Given the description of an element on the screen output the (x, y) to click on. 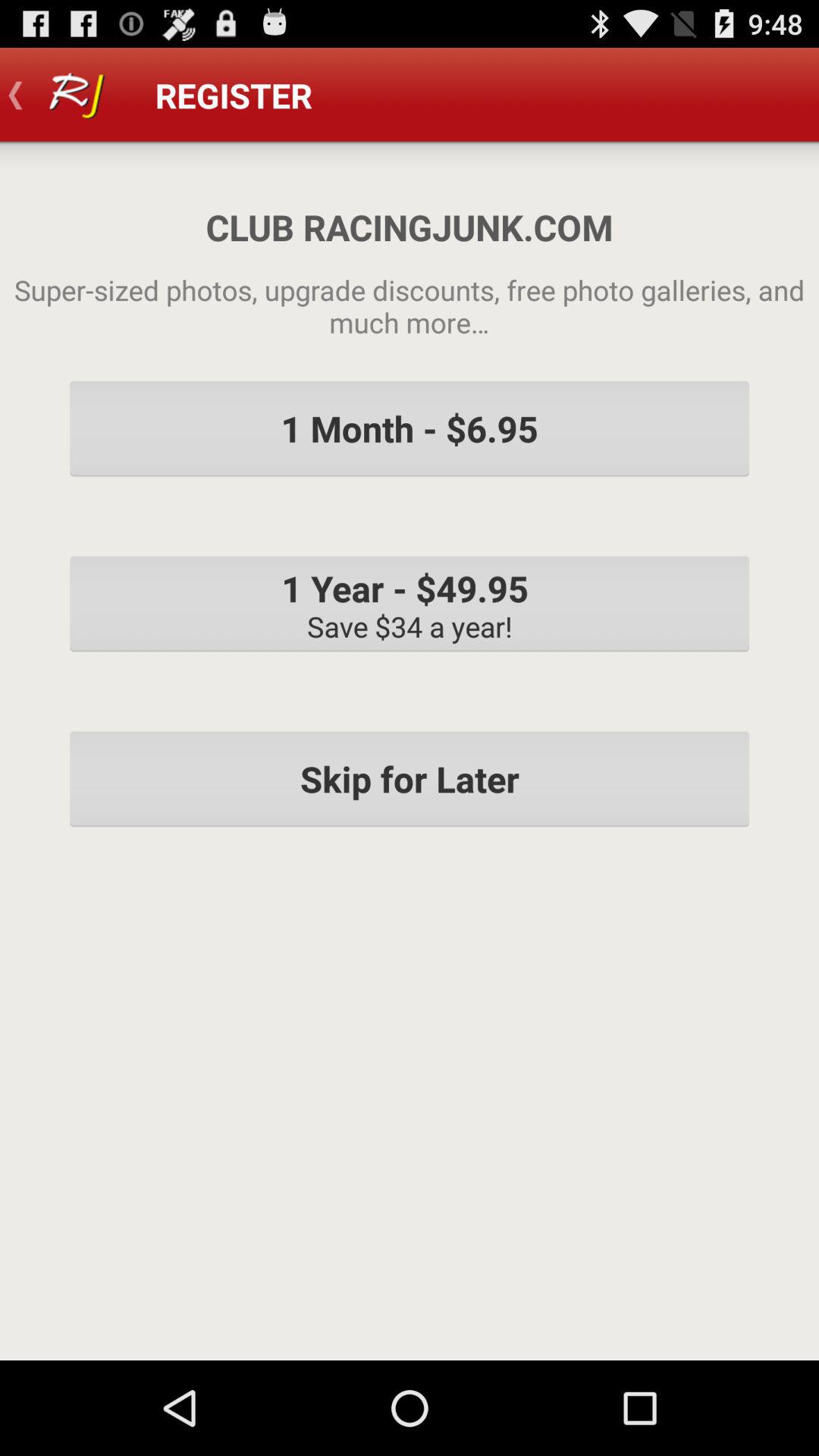
turn off 1 year 49 button (409, 603)
